Given the description of an element on the screen output the (x, y) to click on. 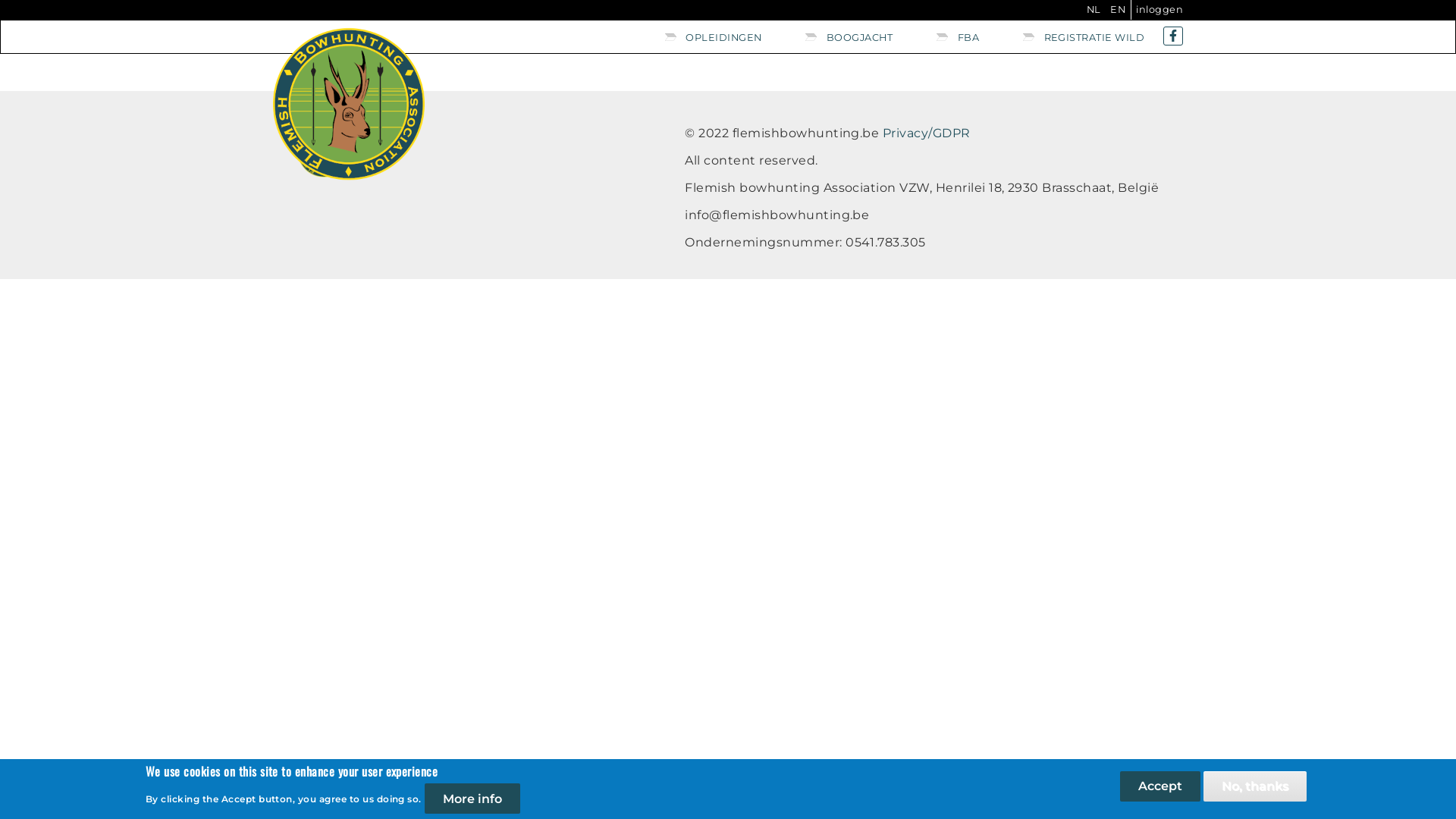
More info Element type: text (472, 798)
OPLEIDINGEN Element type: text (719, 38)
Accept Element type: text (1160, 786)
REGISTRATIE WILD Element type: text (1083, 38)
Skip to main navigation Element type: text (0, 0)
No, thanks Element type: text (1254, 786)
FBA Element type: text (965, 38)
BOOGJACHT Element type: text (856, 38)
NL Element type: text (1093, 9)
EN Element type: text (1117, 9)
Privacy/GDPR Element type: text (926, 132)
inloggen Element type: text (1159, 9)
